Given the description of an element on the screen output the (x, y) to click on. 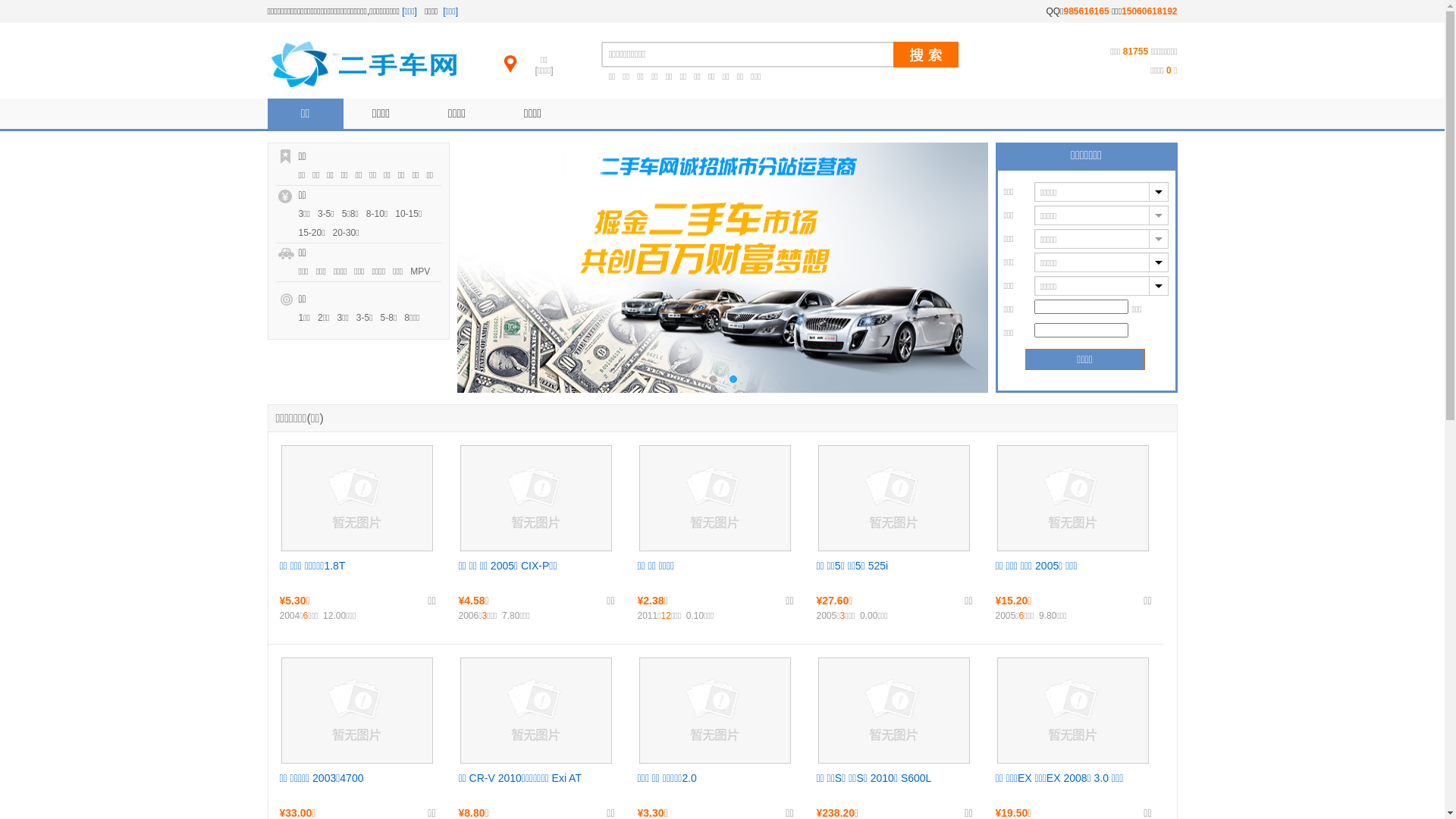
985616165 Element type: text (1086, 11)
MPV Element type: text (423, 271)
